Given the description of an element on the screen output the (x, y) to click on. 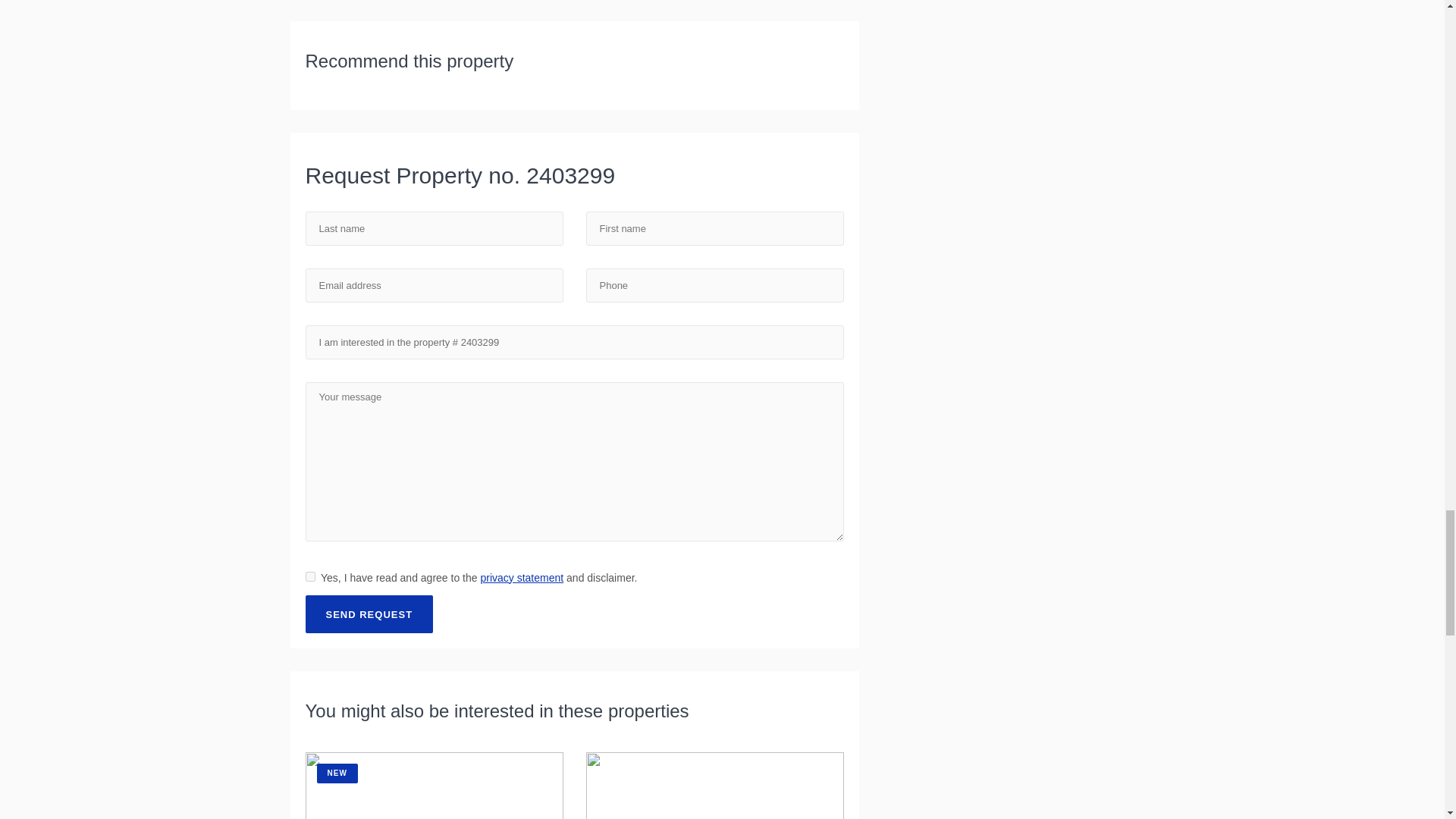
Ja (309, 576)
